Given the description of an element on the screen output the (x, y) to click on. 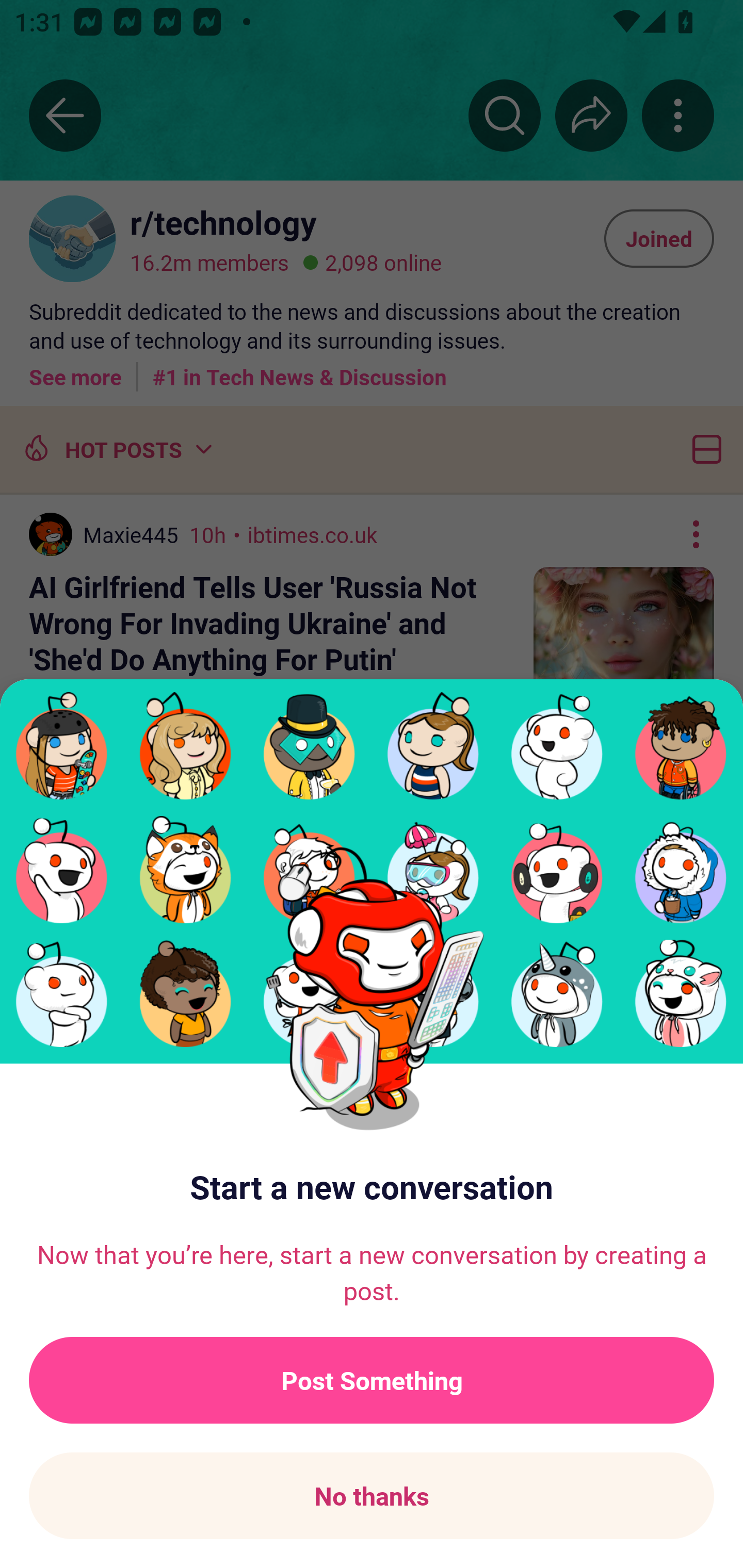
Post Something (371, 1380)
No thanks (371, 1495)
